Given the description of an element on the screen output the (x, y) to click on. 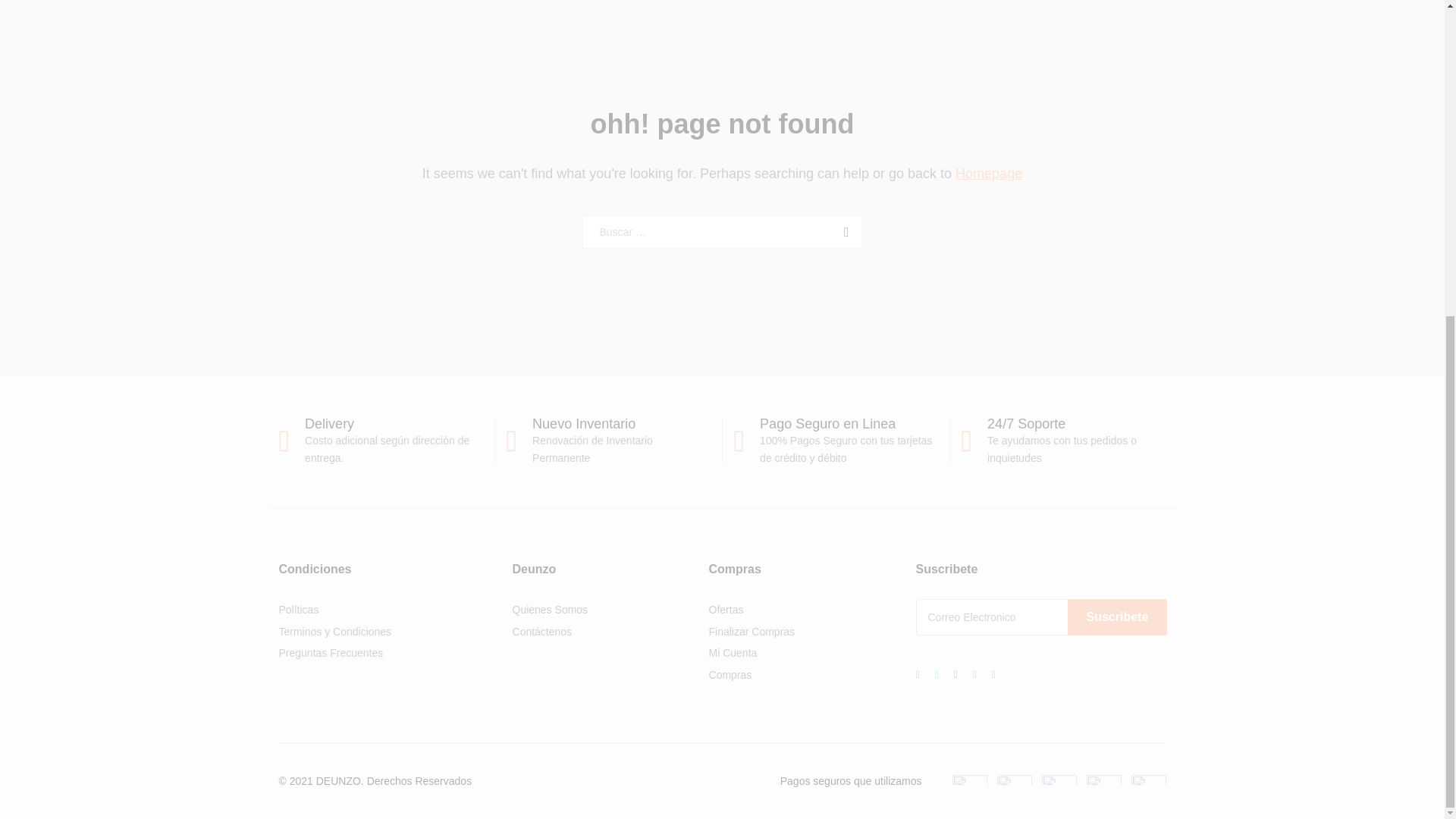
Facebook (917, 673)
Suscribete (1117, 616)
Youtube (974, 673)
Instagram (993, 673)
Twitter (936, 673)
Buscar (843, 232)
Google Plus (955, 673)
Buscar (843, 232)
